Given the description of an element on the screen output the (x, y) to click on. 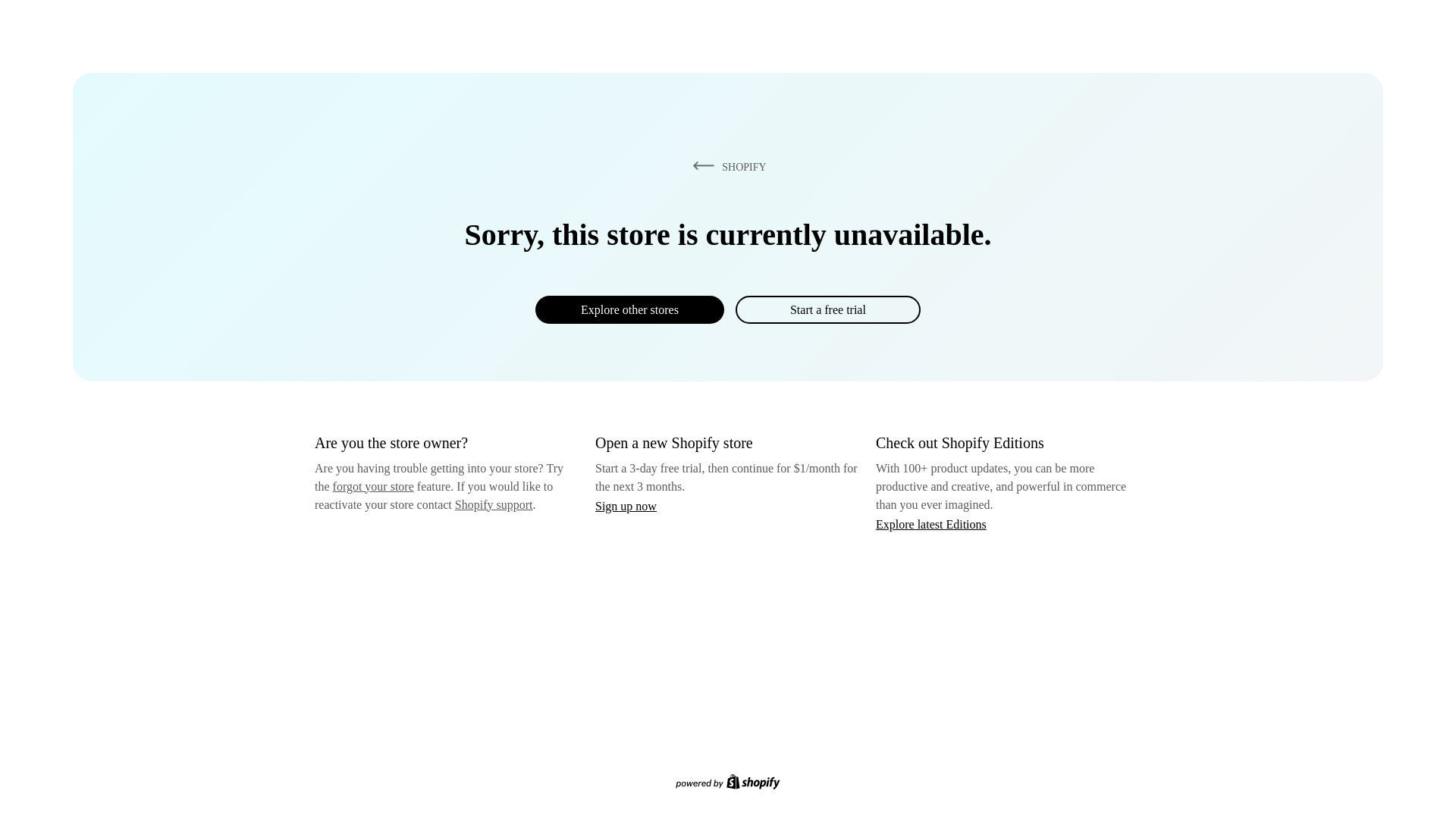
SHOPIFY (726, 166)
forgot your store (373, 486)
Explore other stores (629, 309)
Sign up now (625, 505)
Start a free trial (827, 309)
Shopify support (493, 504)
Explore latest Editions (931, 523)
